Given the description of an element on the screen output the (x, y) to click on. 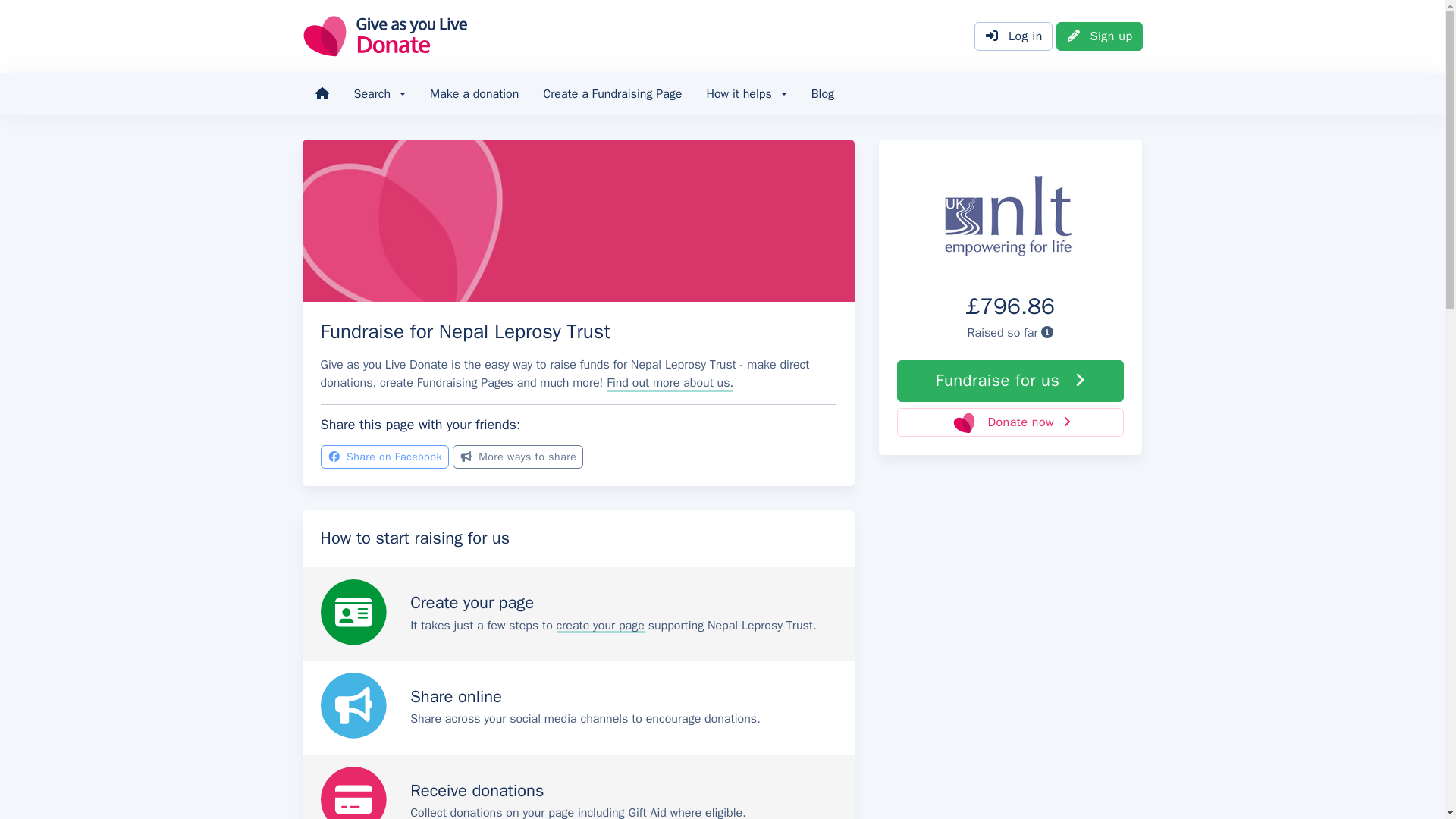
Donate now (1010, 421)
Blog (822, 93)
Create a Fundraising Page (612, 93)
How it helps (745, 93)
Home (320, 93)
Fundraise for us (1010, 381)
Share on Facebook (384, 456)
create your page (600, 625)
Make a donation (474, 93)
Find out more about us. (670, 382)
Log in (1013, 36)
See breakdown of amount raised (1046, 332)
More ways to share (517, 456)
Sign up (1099, 36)
Search (378, 93)
